Given the description of an element on the screen output the (x, y) to click on. 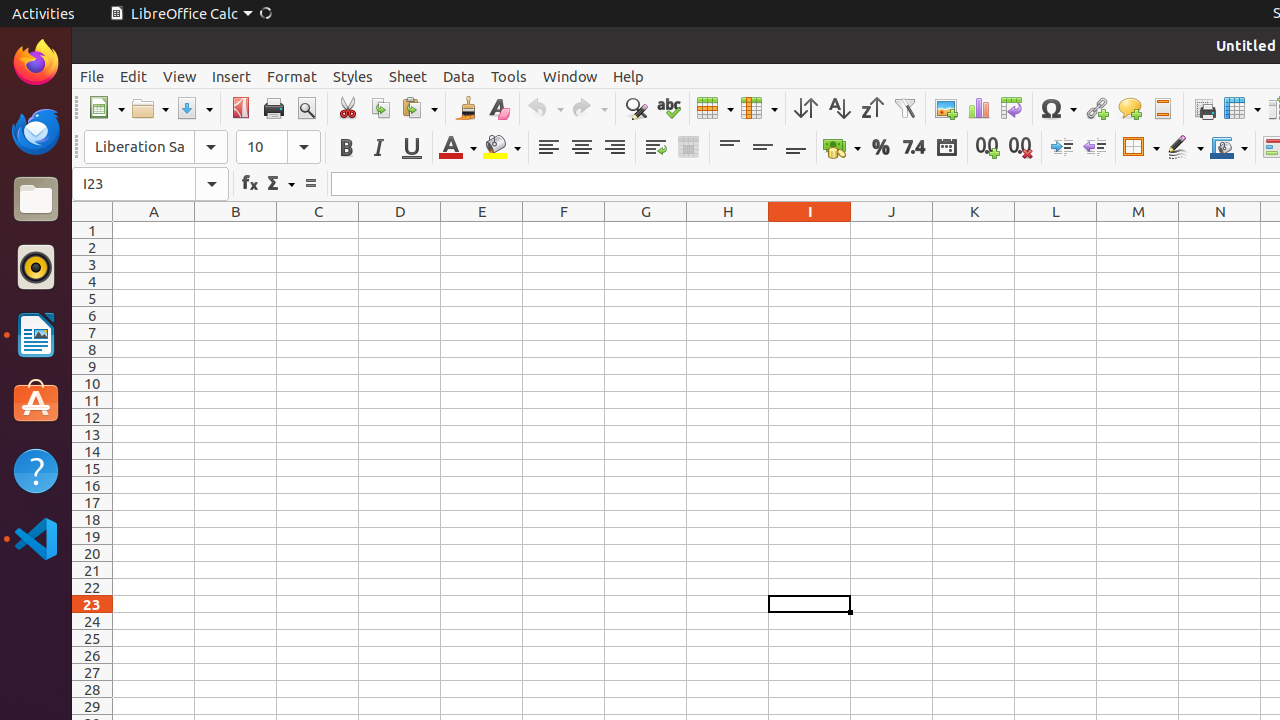
Font Color Element type: push-button (458, 147)
Function Wizard Element type: push-button (249, 183)
Currency Element type: push-button (842, 147)
Decrease Element type: push-button (1094, 147)
